Given the description of an element on the screen output the (x, y) to click on. 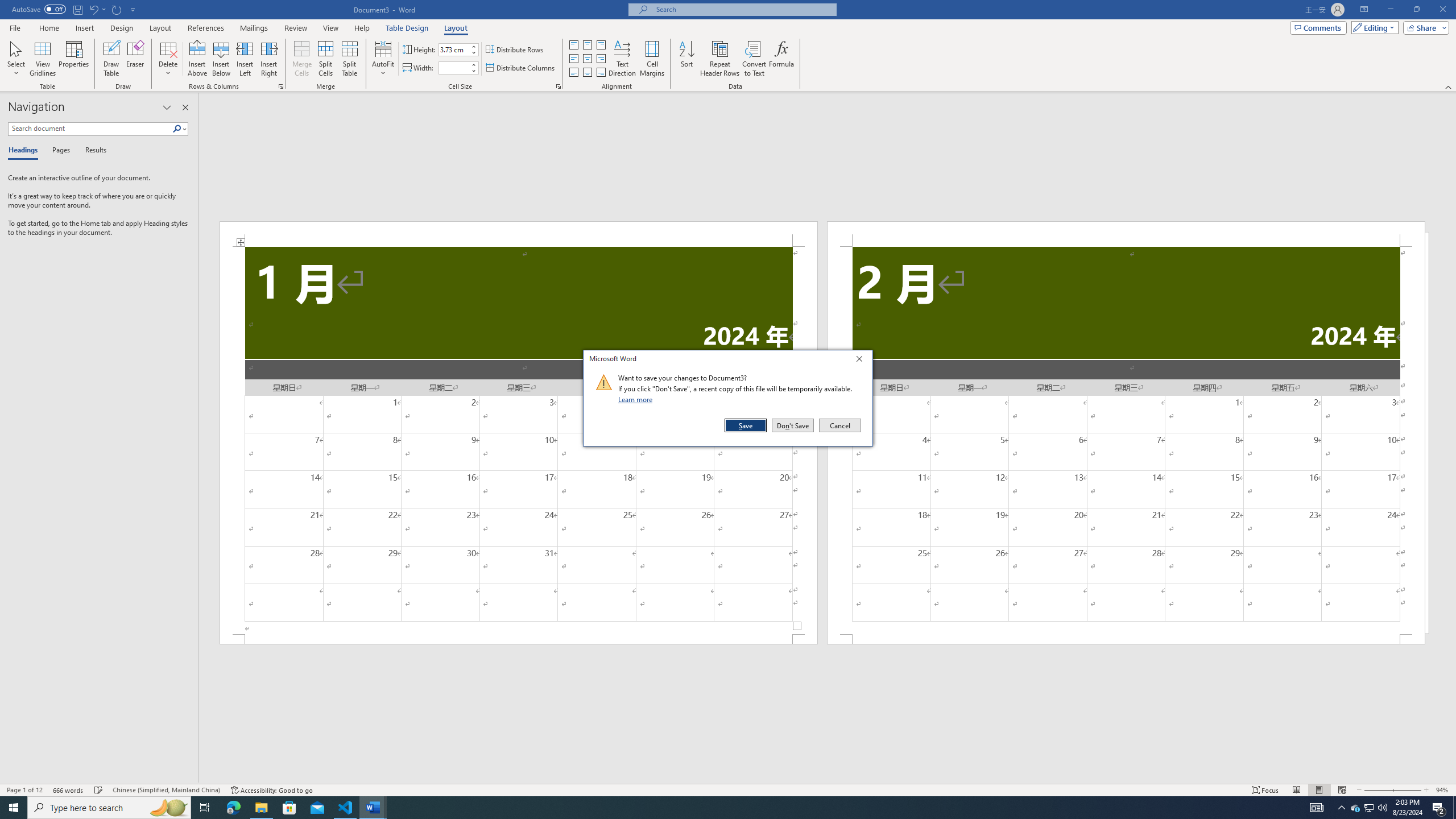
Search highlights icon opens search home window (167, 807)
Align Center Right (601, 58)
Eraser (135, 58)
Action Center, 2 new notifications (1439, 807)
File Explorer - 1 running window (261, 807)
Split Cells... (325, 58)
Less (473, 70)
Type here to search (108, 807)
Q2790: 100% (1382, 807)
